Given the description of an element on the screen output the (x, y) to click on. 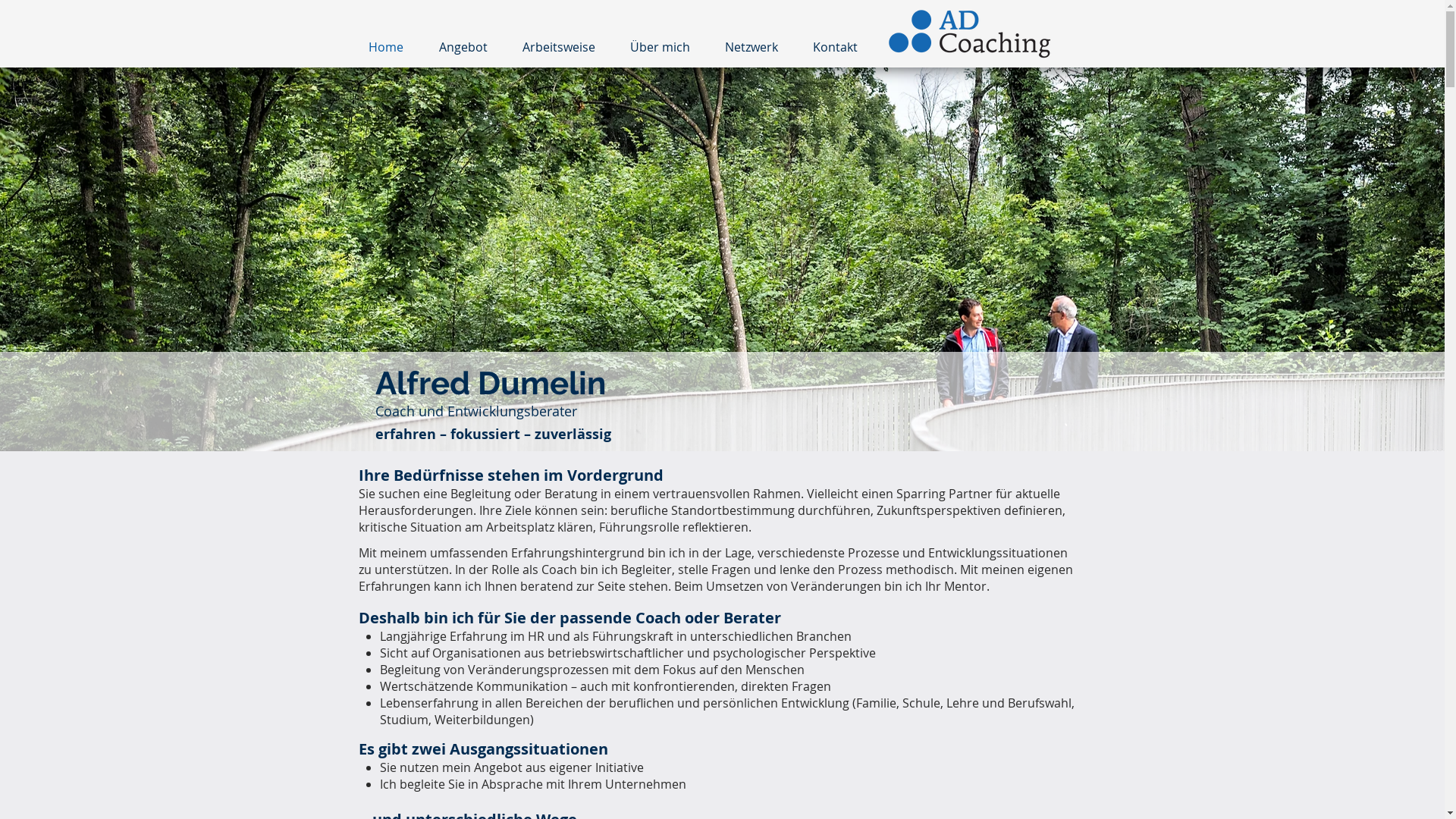
Netzwerk Element type: text (750, 46)
Kontakt Element type: text (834, 46)
Angebot Element type: text (463, 46)
Arbeitsweise Element type: text (558, 46)
Home Element type: text (385, 46)
